Given the description of an element on the screen output the (x, y) to click on. 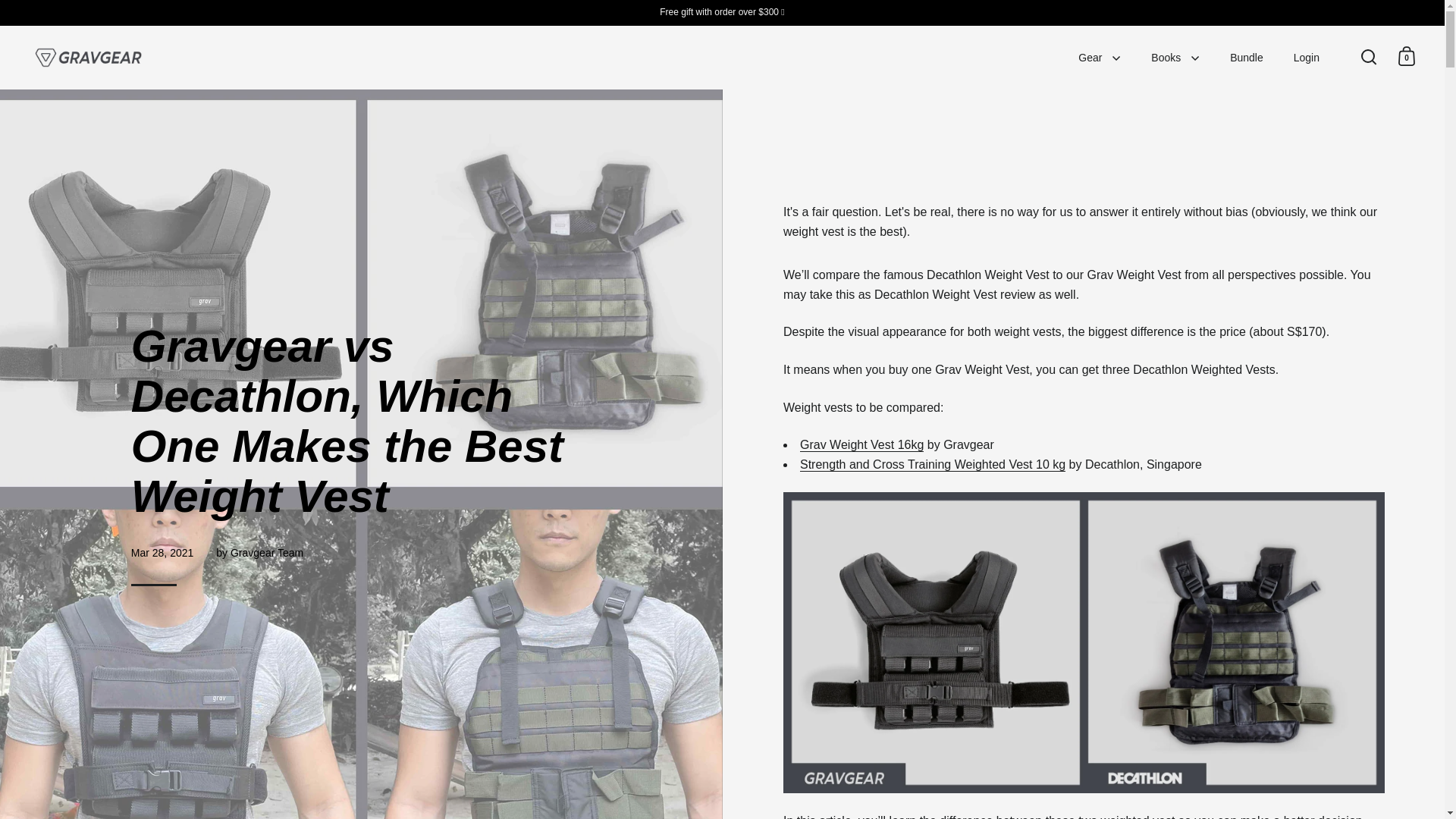
Login (1306, 57)
Open cart (1406, 55)
Open cart (1406, 55)
Gear (1098, 57)
Grav Weight Vest 16kg (861, 445)
Open search (1369, 55)
Books (1174, 57)
Strength and Cross Training Weighted Vest 10 kg (932, 464)
0 (1406, 55)
Bundle (1246, 57)
